Given the description of an element on the screen output the (x, y) to click on. 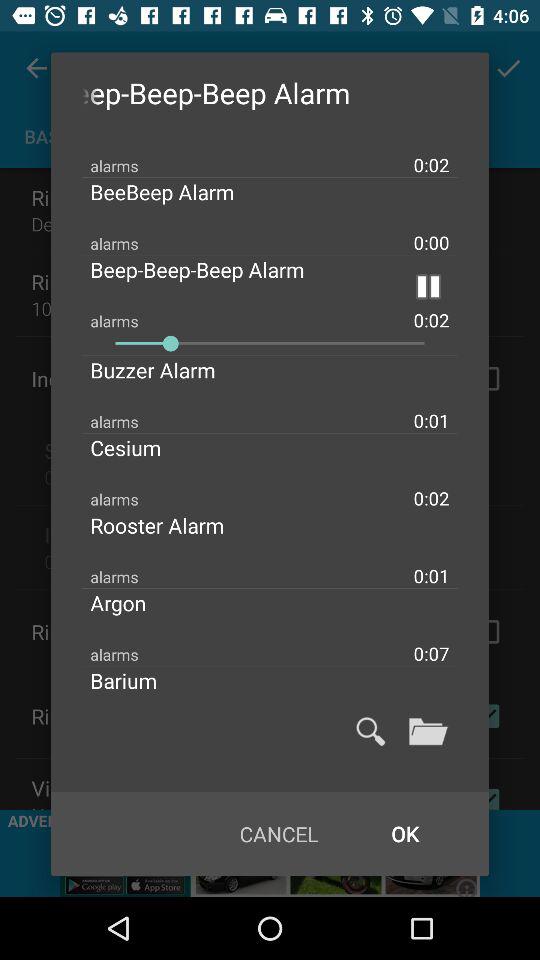
tap the rooster alarm (173, 525)
